Given the description of an element on the screen output the (x, y) to click on. 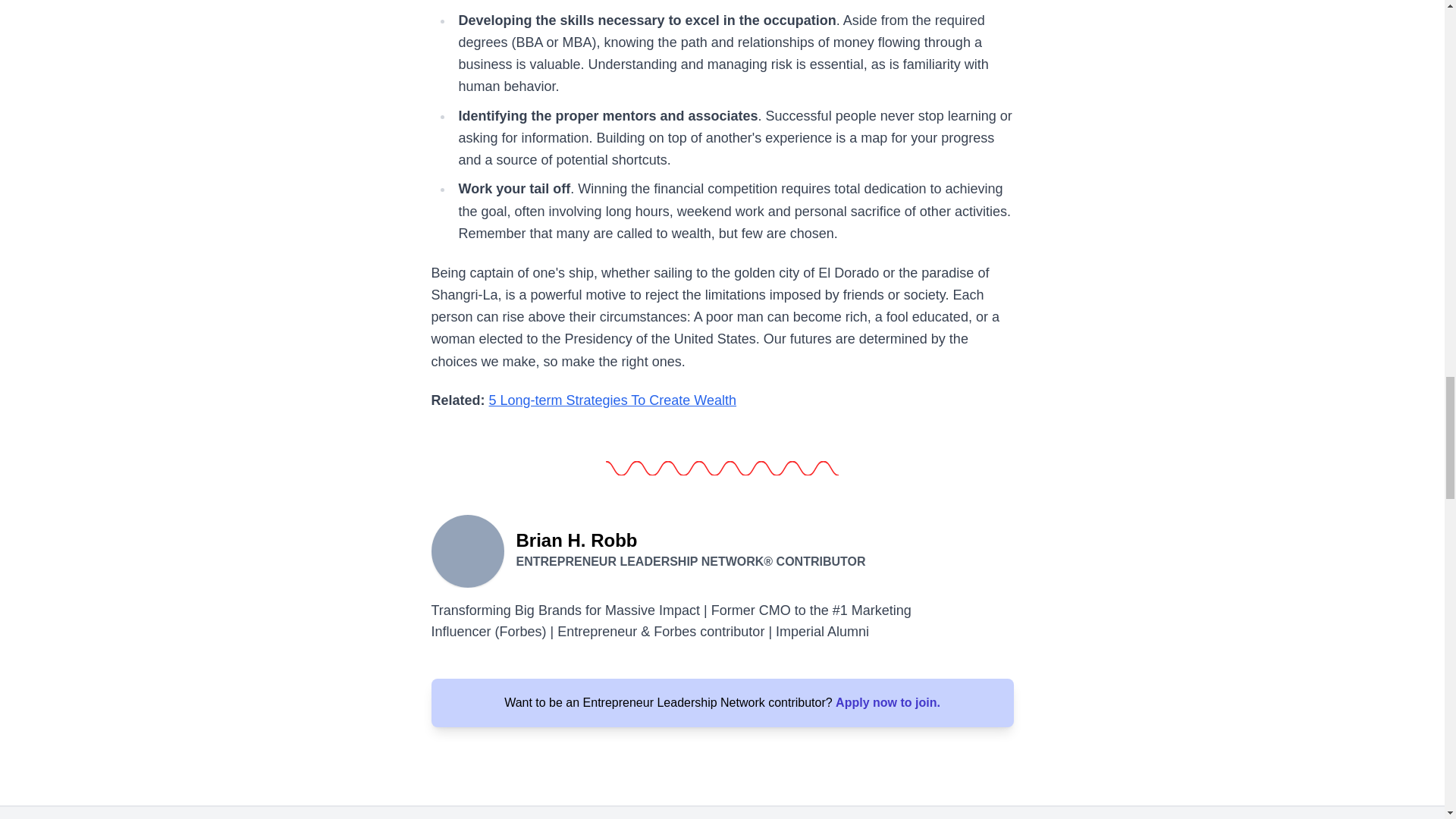
Brian H. Robb (466, 549)
